Given the description of an element on the screen output the (x, y) to click on. 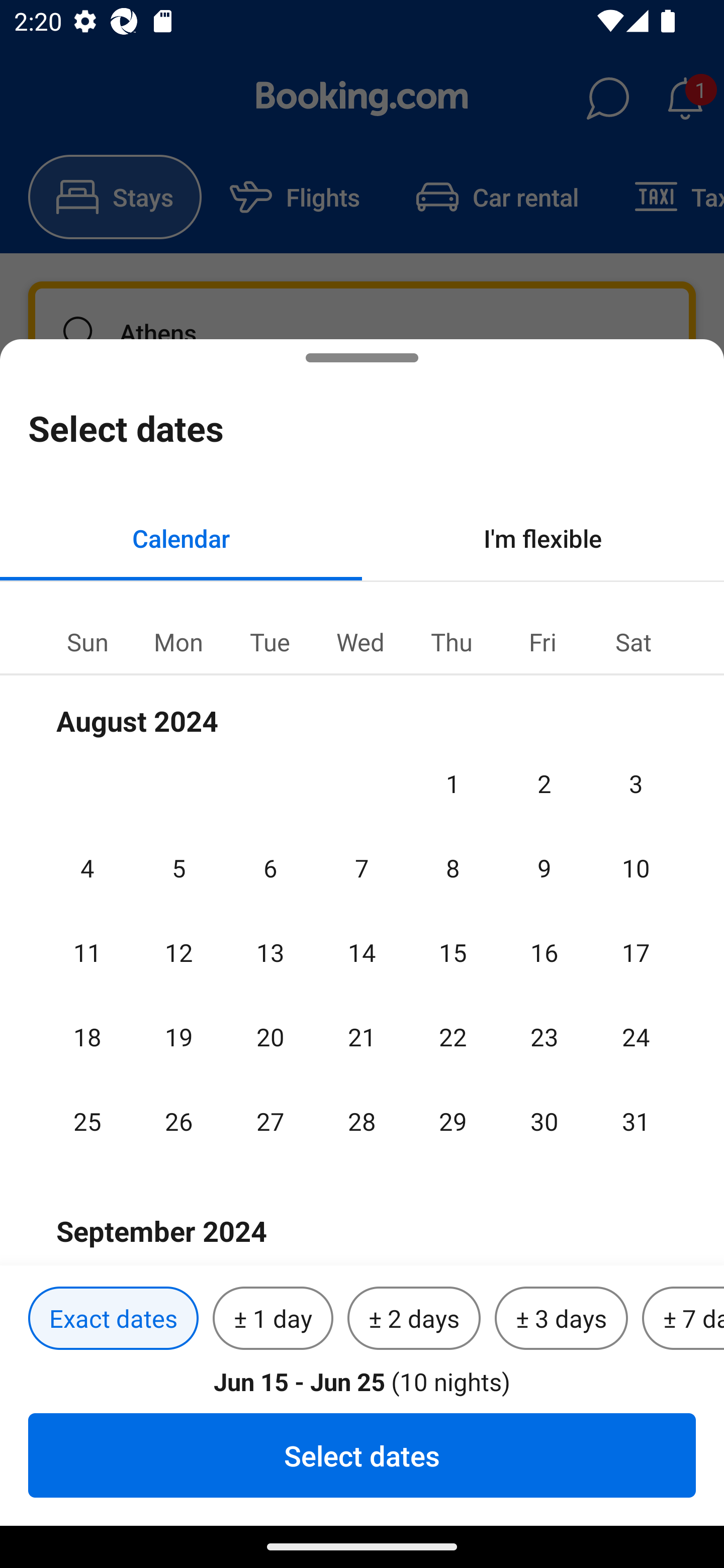
I'm flexible (543, 537)
Exact dates (113, 1318)
± 1 day (272, 1318)
± 2 days (413, 1318)
± 3 days (560, 1318)
± 7 days (683, 1318)
Select dates (361, 1454)
